Given the description of an element on the screen output the (x, y) to click on. 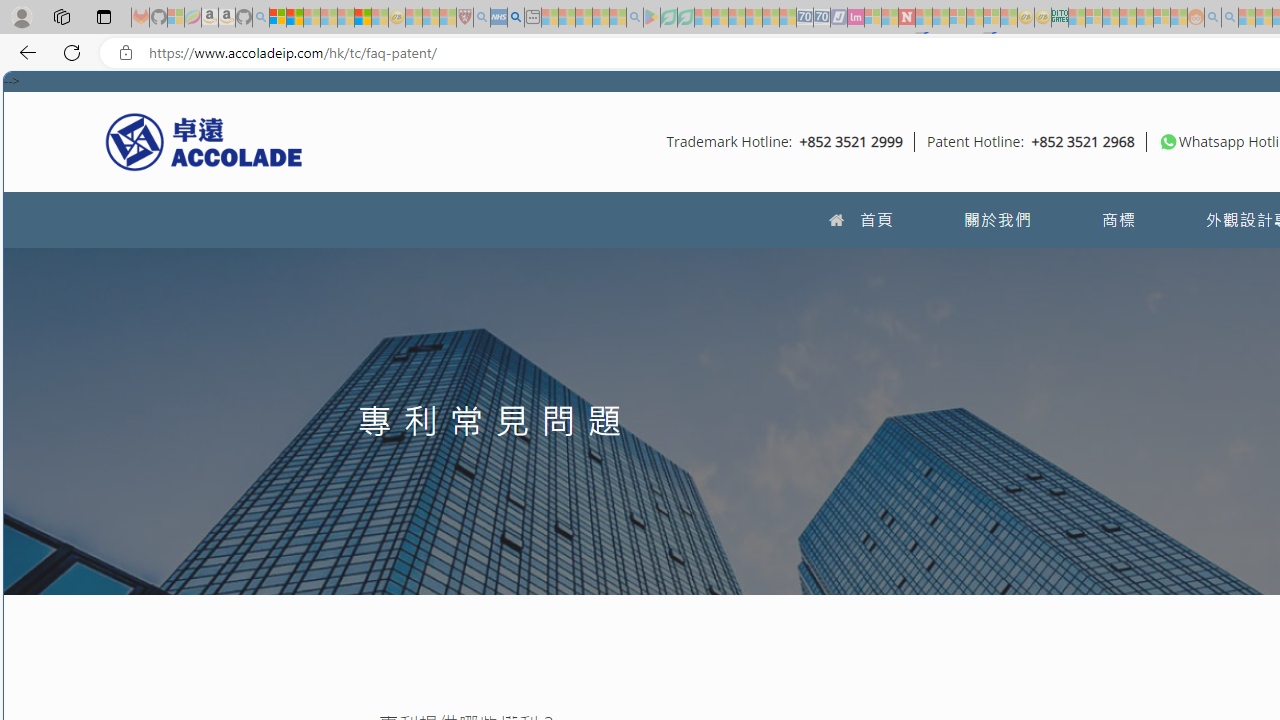
utah sues federal government - Search (515, 17)
